Given the description of an element on the screen output the (x, y) to click on. 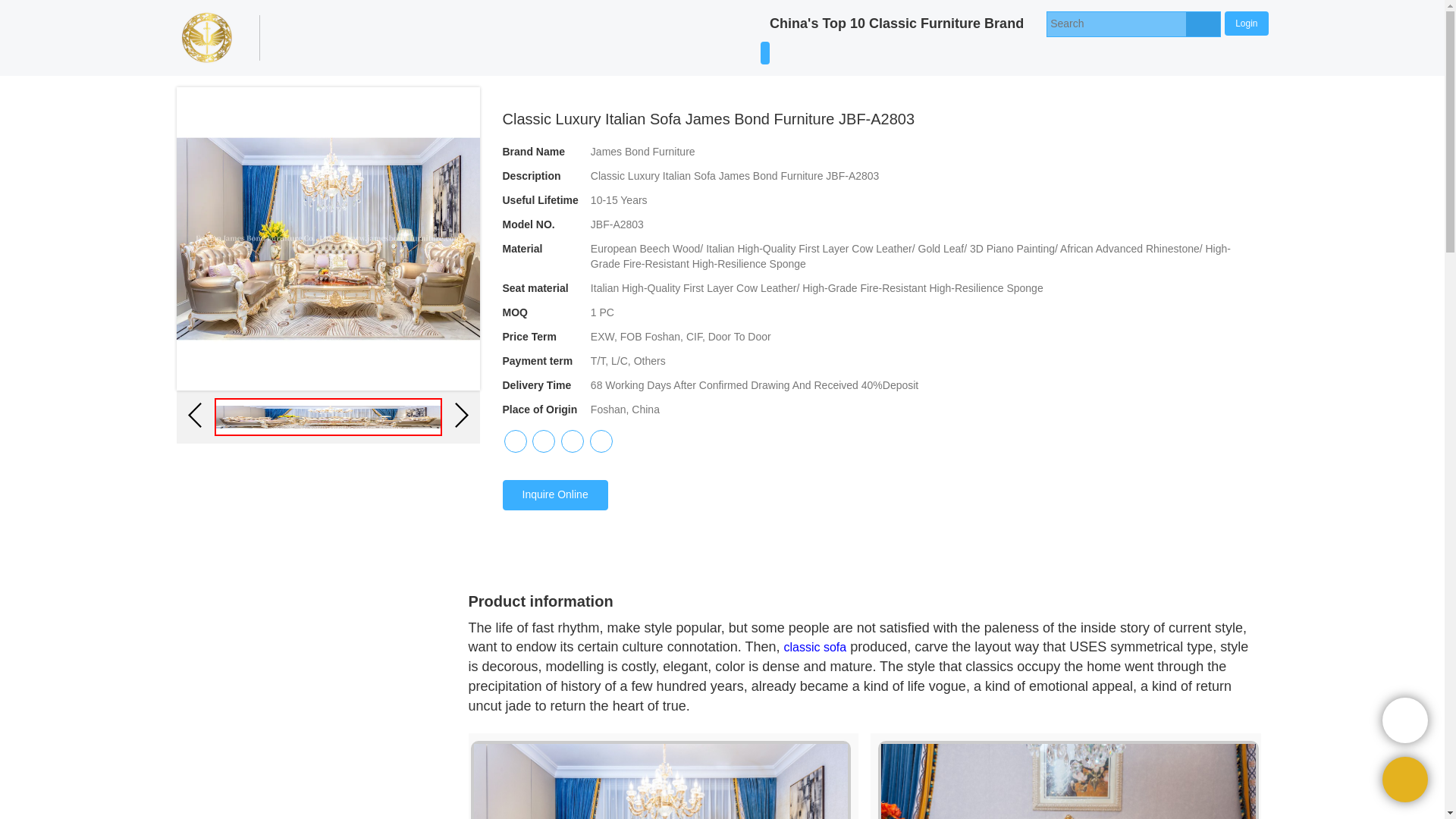
Login (1245, 23)
